Given the description of an element on the screen output the (x, y) to click on. 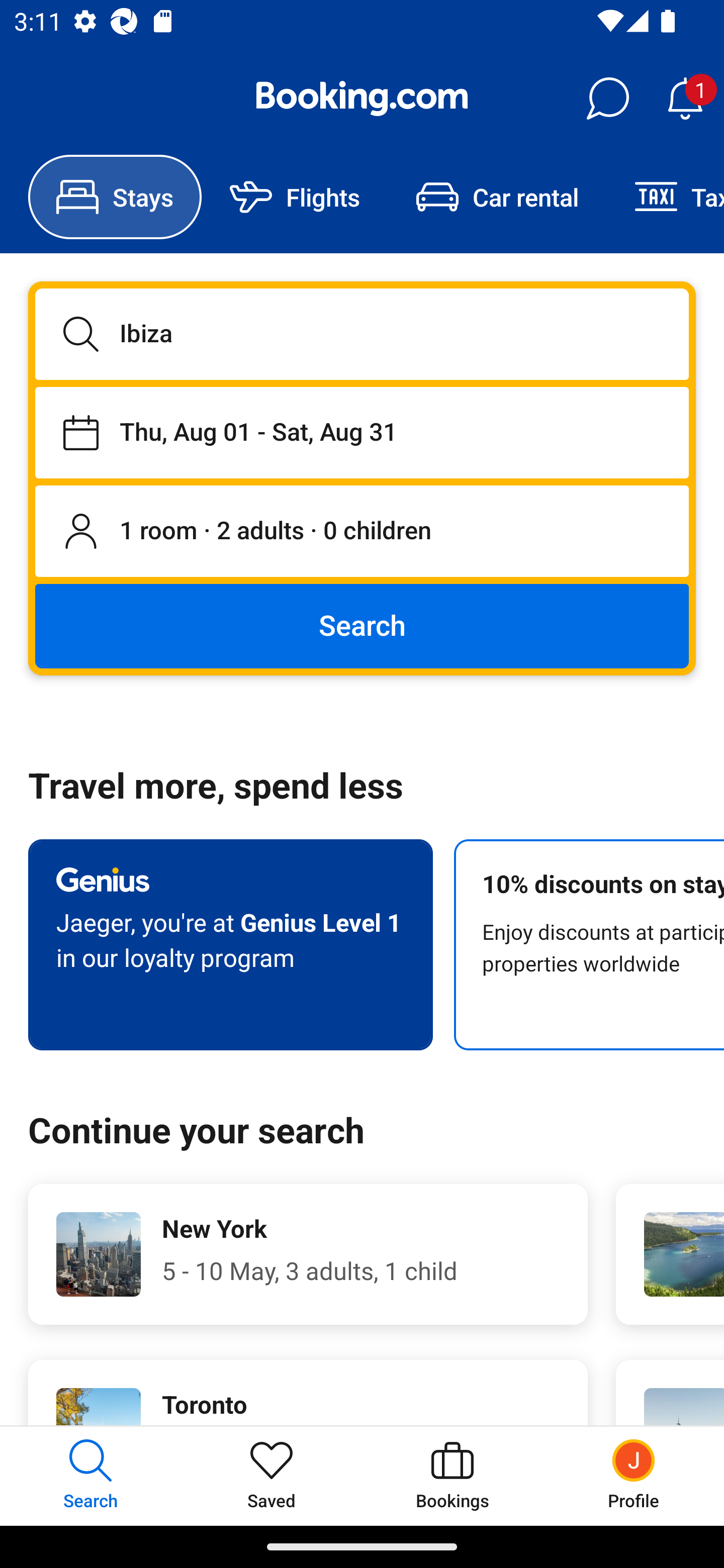
Messages (607, 98)
Notifications (685, 98)
Stays (114, 197)
Flights (294, 197)
Car rental (497, 197)
Taxi (665, 197)
Ibiza (361, 333)
Staying from Thu, Aug 01 until Sat, Aug 31 (361, 432)
1 room, 2 adults, 0 children (361, 531)
Search (361, 625)
New York 5 - 10 May, 3 adults, 1 child (307, 1253)
Saved (271, 1475)
Bookings (452, 1475)
Profile (633, 1475)
